Given the description of an element on the screen output the (x, y) to click on. 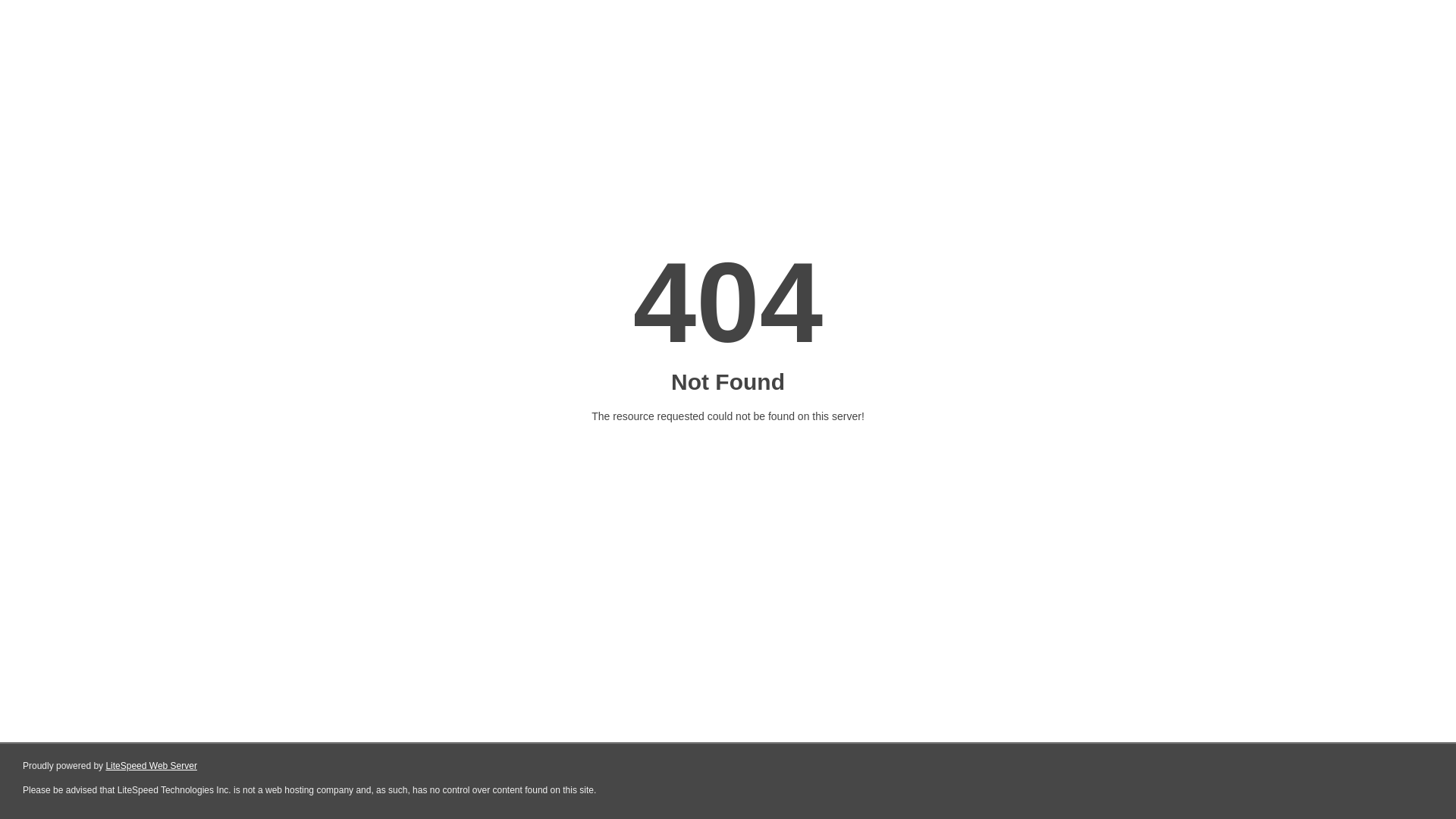
LiteSpeed Web Server Element type: text (151, 765)
